Given the description of an element on the screen output the (x, y) to click on. 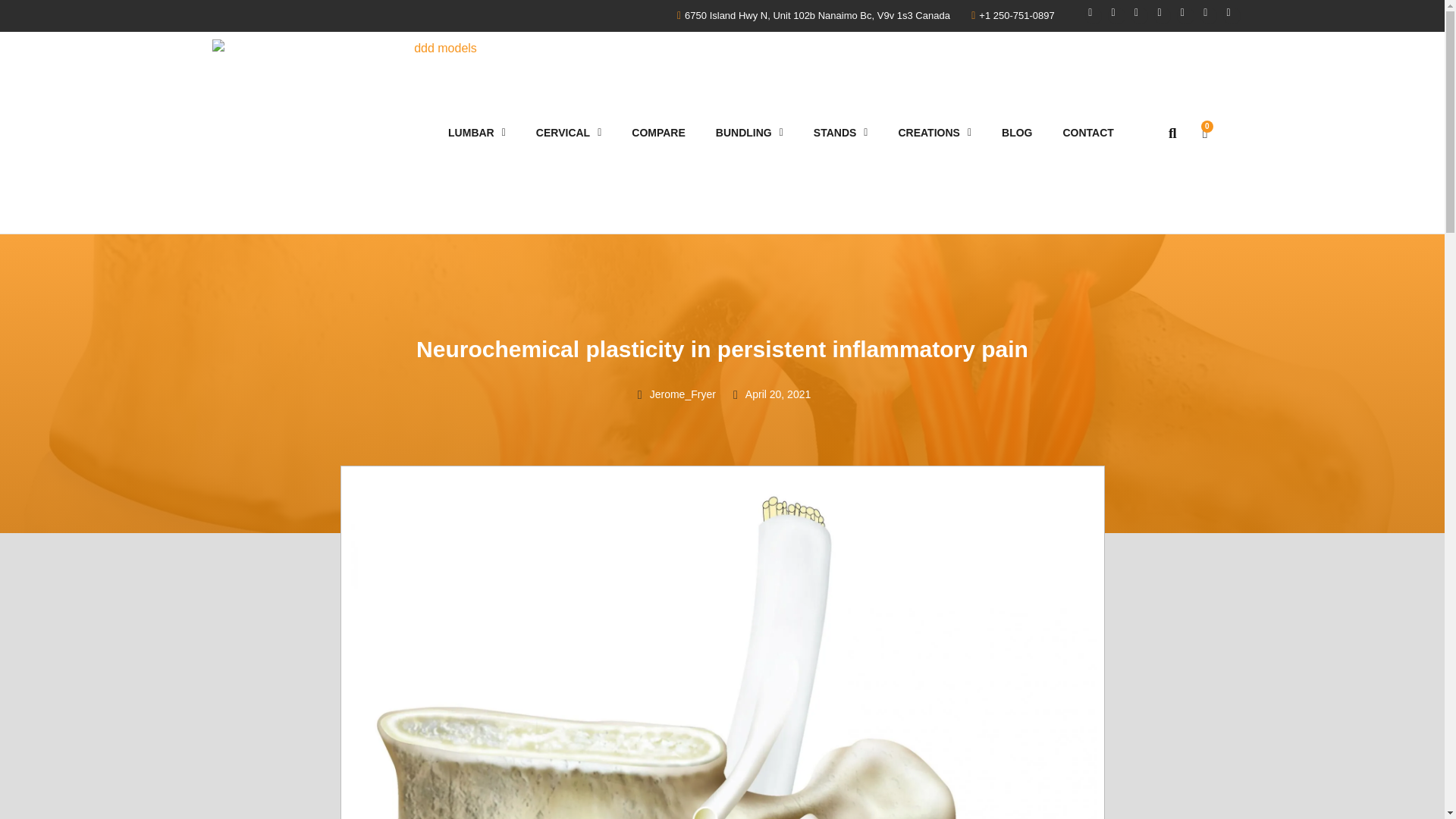
6750 Island Hwy N, Unit 102b Nanaimo Bc, V9v 1s3 Canada (809, 15)
LUMBAR (476, 132)
Anatomical Features (657, 132)
